Given the description of an element on the screen output the (x, y) to click on. 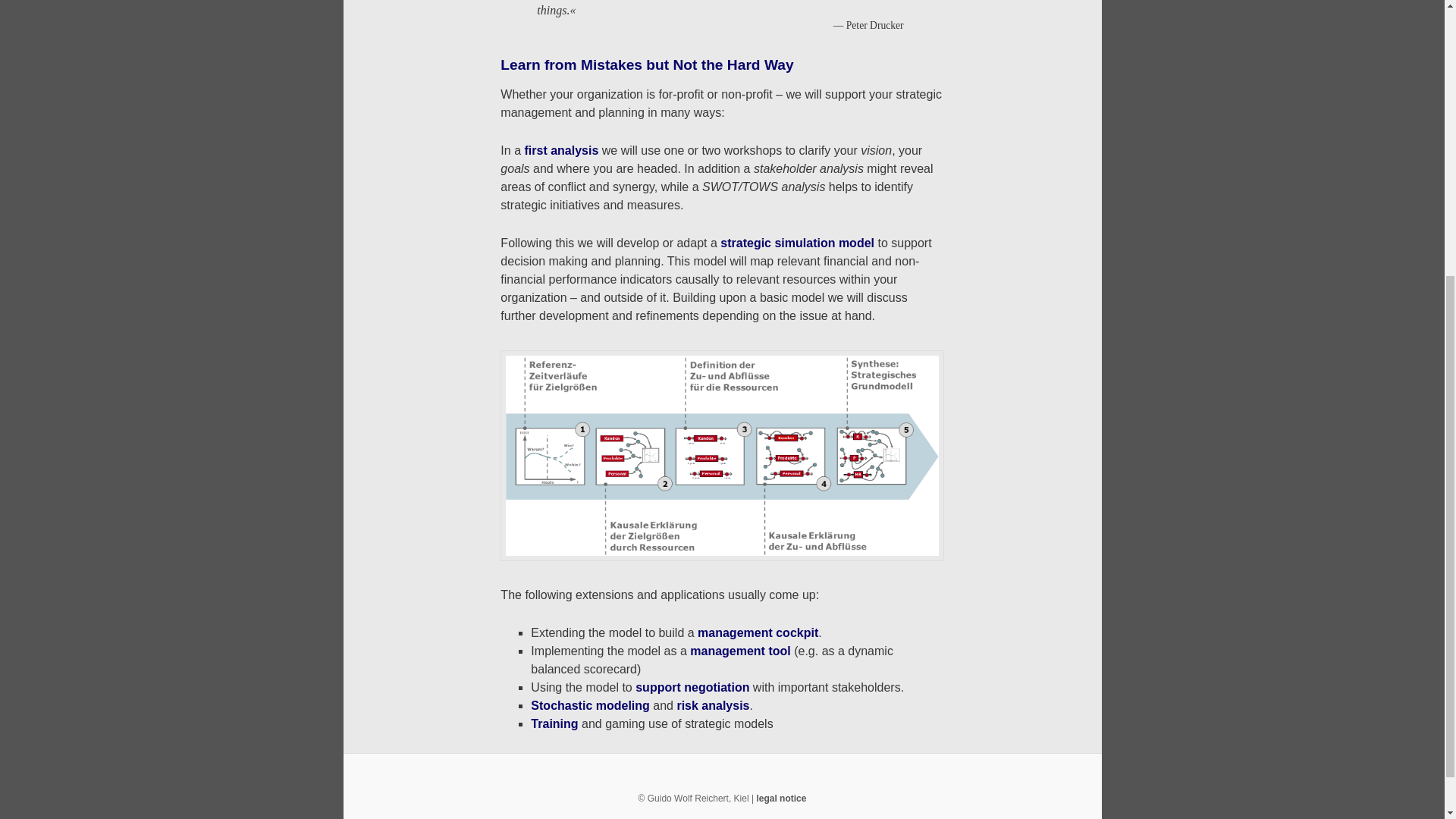
legal notice (780, 798)
